Given the description of an element on the screen output the (x, y) to click on. 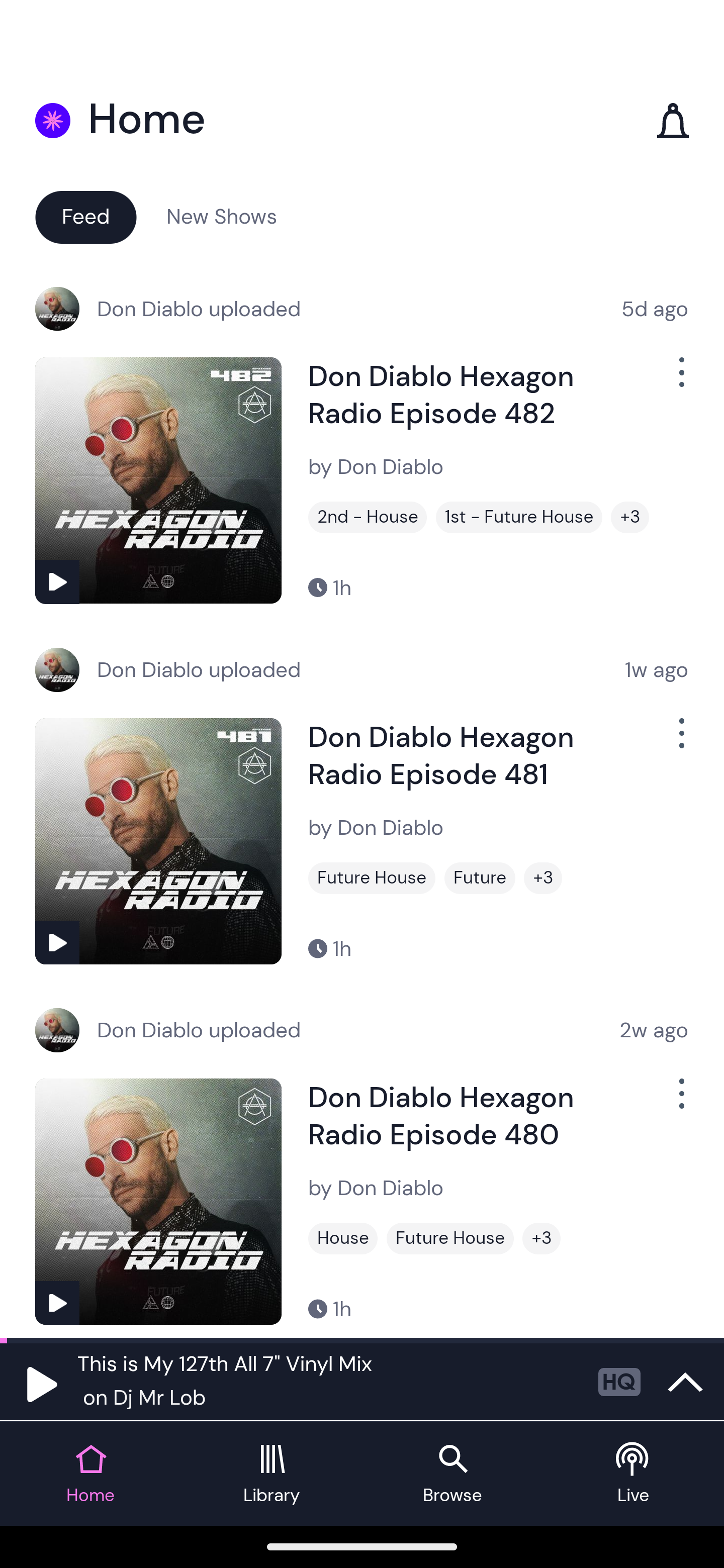
Feed (85, 216)
New Shows (221, 216)
Show Options Menu Button (679, 379)
2nd - House (367, 517)
1st - Future House (518, 517)
Show Options Menu Button (679, 740)
Future House (371, 877)
Future (479, 877)
Show Options Menu Button (679, 1101)
House (342, 1238)
Future House (450, 1238)
Home tab Home (90, 1473)
Library tab Library (271, 1473)
Browse tab Browse (452, 1473)
Live tab Live (633, 1473)
